Given the description of an element on the screen output the (x, y) to click on. 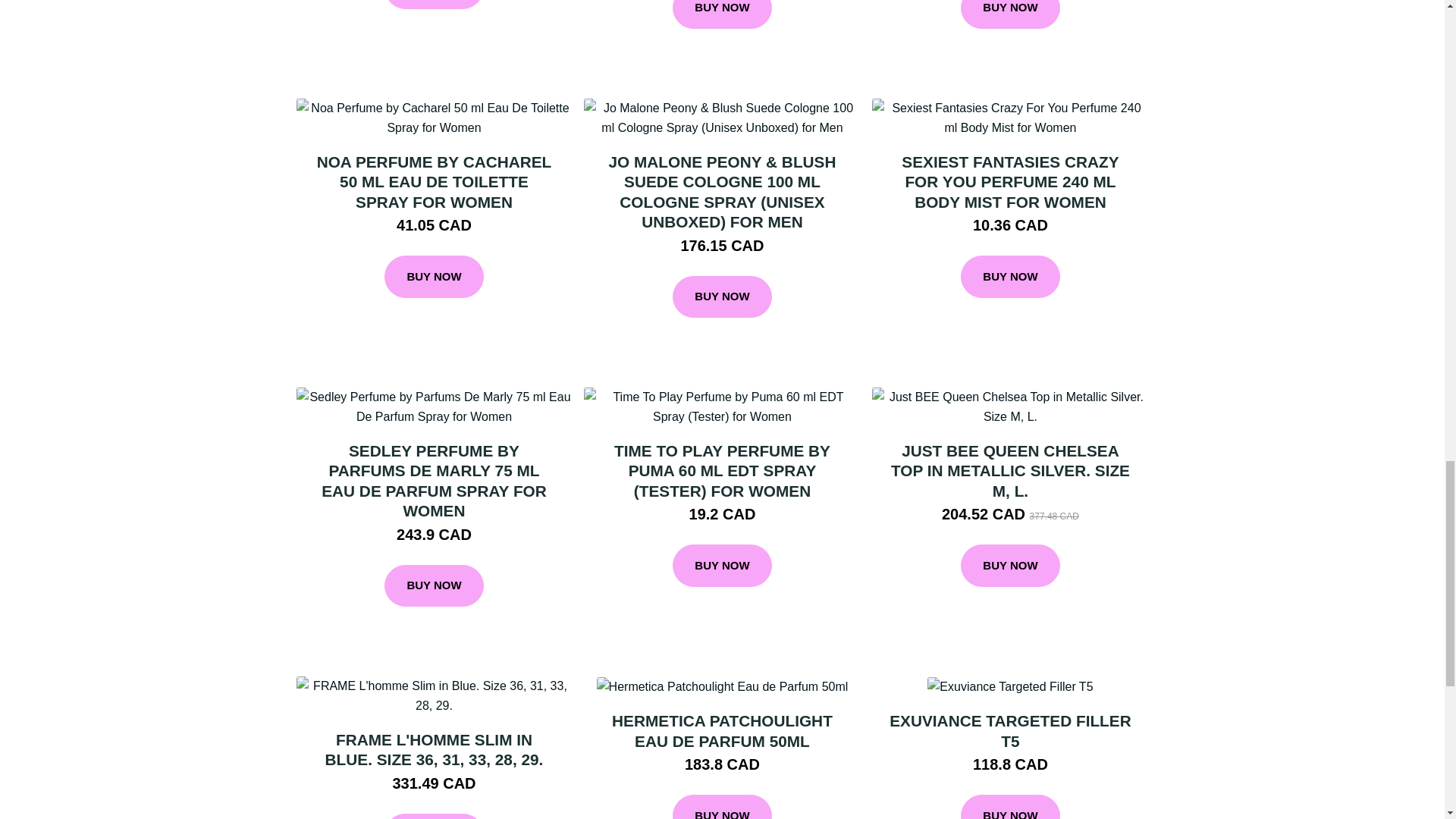
BUY NOW (721, 14)
BUY NOW (433, 4)
BUY NOW (721, 297)
BUY NOW (1009, 14)
BUY NOW (433, 276)
